Given the description of an element on the screen output the (x, y) to click on. 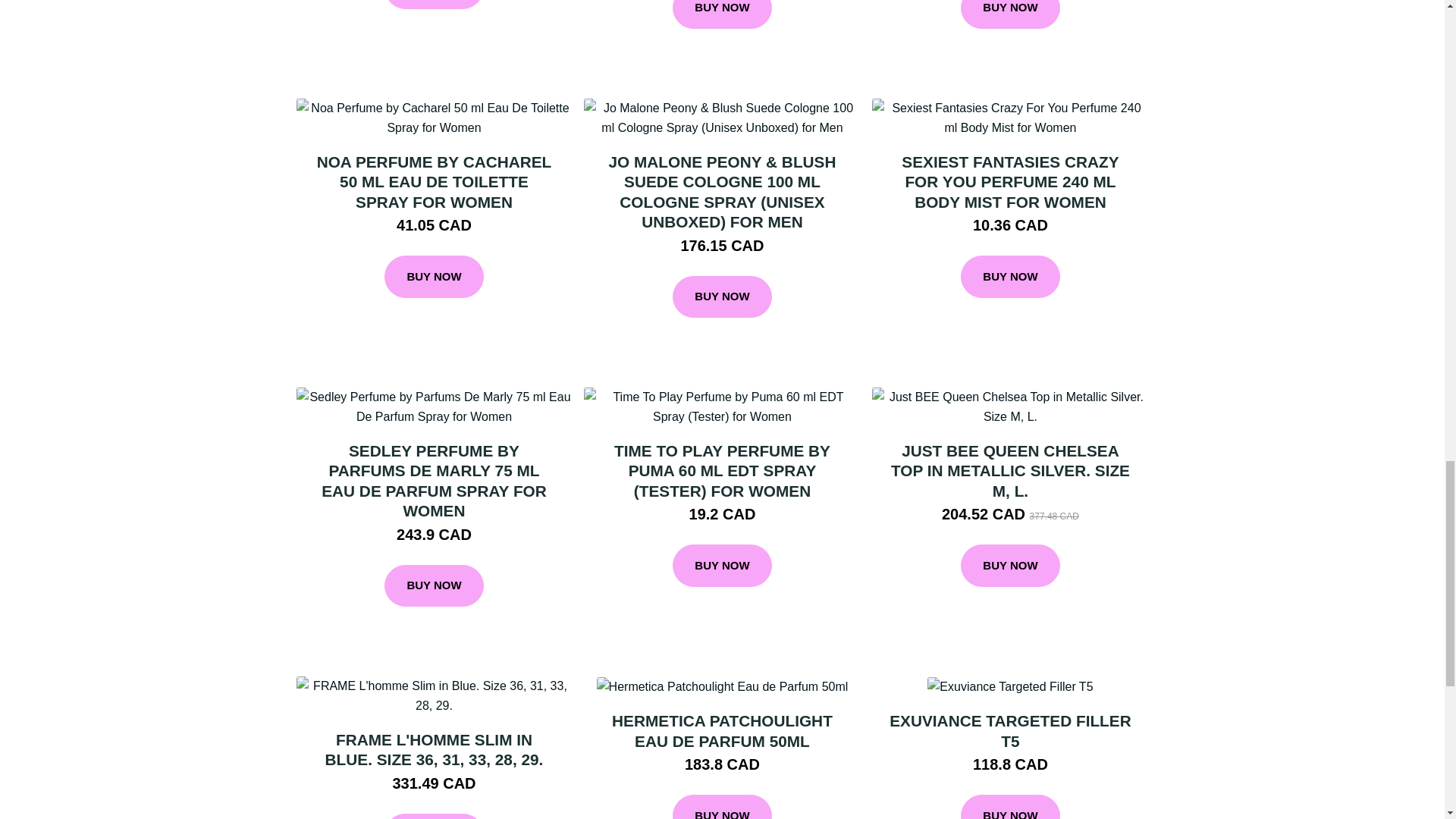
BUY NOW (721, 14)
BUY NOW (433, 4)
BUY NOW (721, 297)
BUY NOW (1009, 14)
BUY NOW (433, 276)
